Given the description of an element on the screen output the (x, y) to click on. 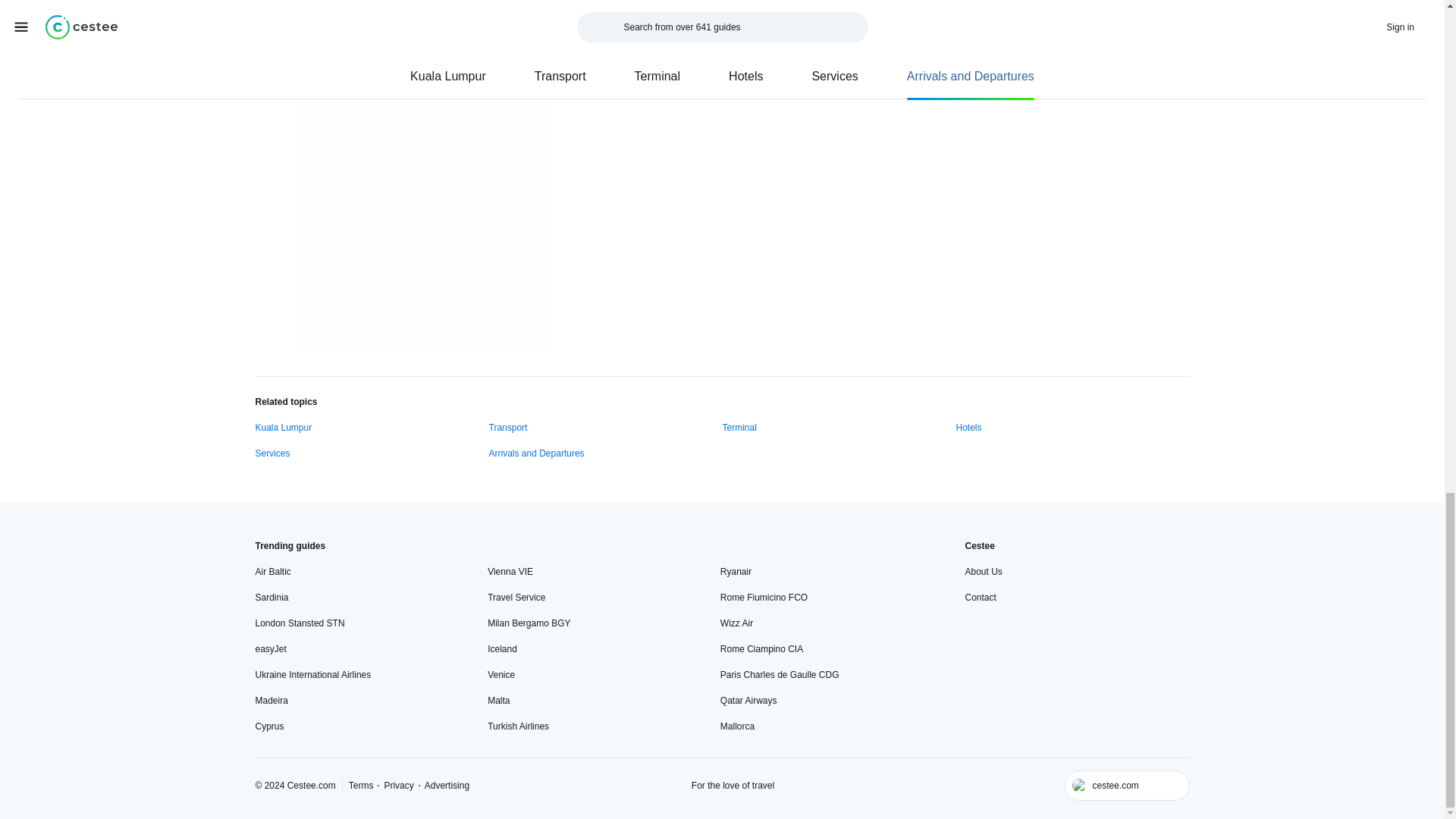
Rome Fiumicino FCO (764, 597)
Vienna VIE (509, 571)
Add a comment... (879, 5)
Services (271, 453)
Sardinia (271, 597)
London Stansted STN (298, 623)
Kuala Lumpur (282, 427)
Travel Service (515, 597)
Transport (507, 427)
Arrivals and Departures (535, 453)
